Given the description of an element on the screen output the (x, y) to click on. 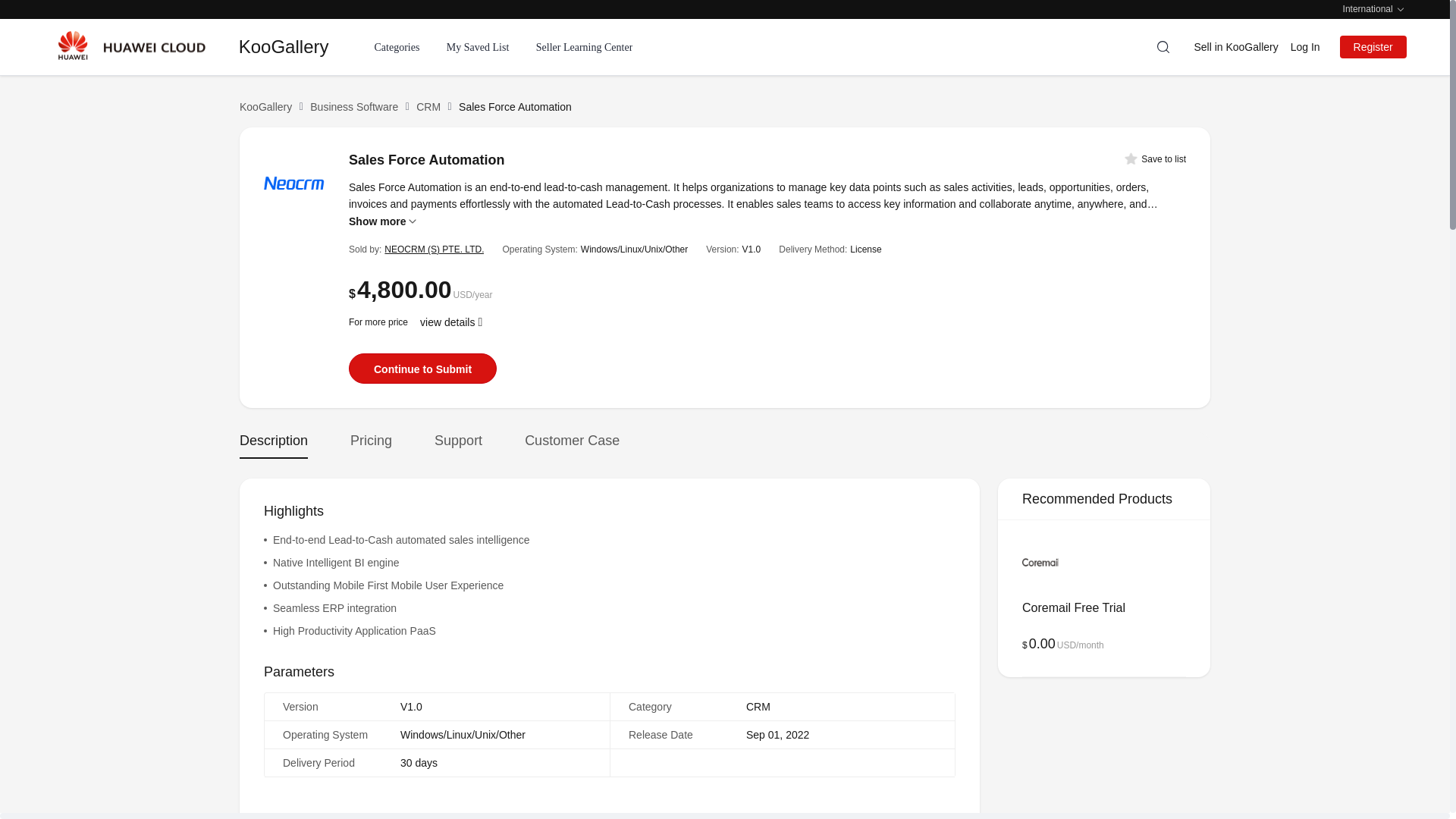
KooGallery (306, 46)
Register (1372, 47)
My Saved List (477, 46)
Seller Learning Center (584, 46)
Sell in KooGallery (1235, 46)
Log In (1305, 46)
